Given the description of an element on the screen output the (x, y) to click on. 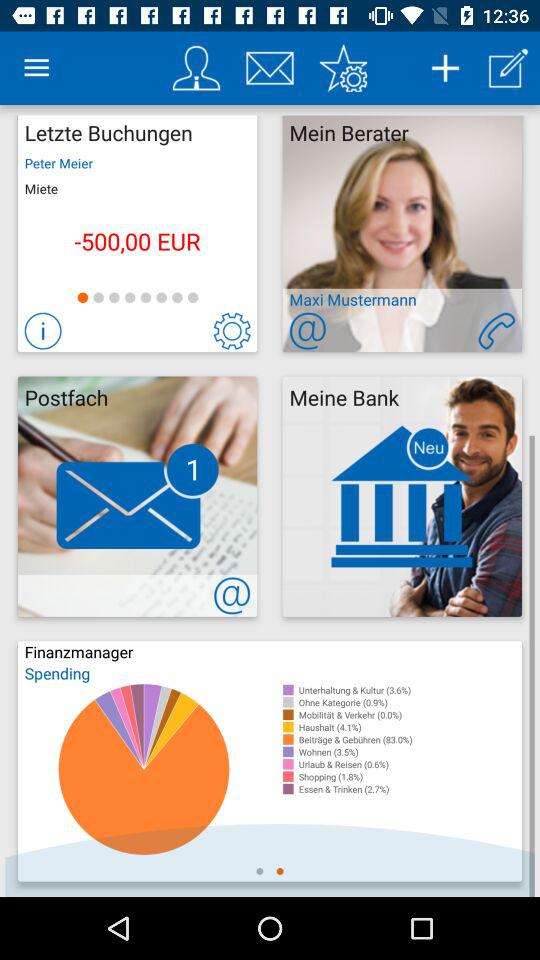
click to connect with email (231, 595)
